Given the description of an element on the screen output the (x, y) to click on. 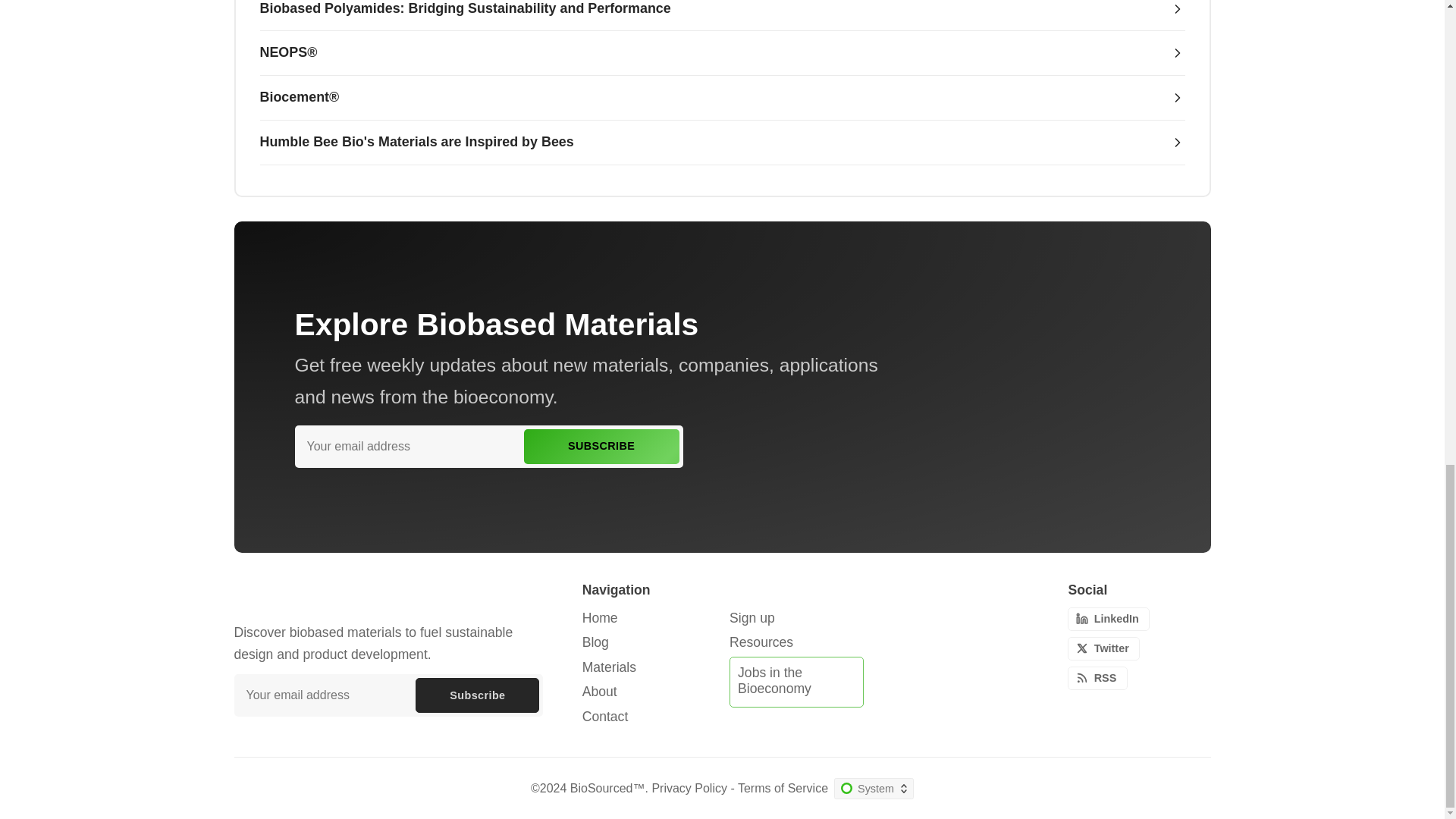
Biobased Polyamides: Bridging Sustainability and Performance (722, 15)
